Given the description of an element on the screen output the (x, y) to click on. 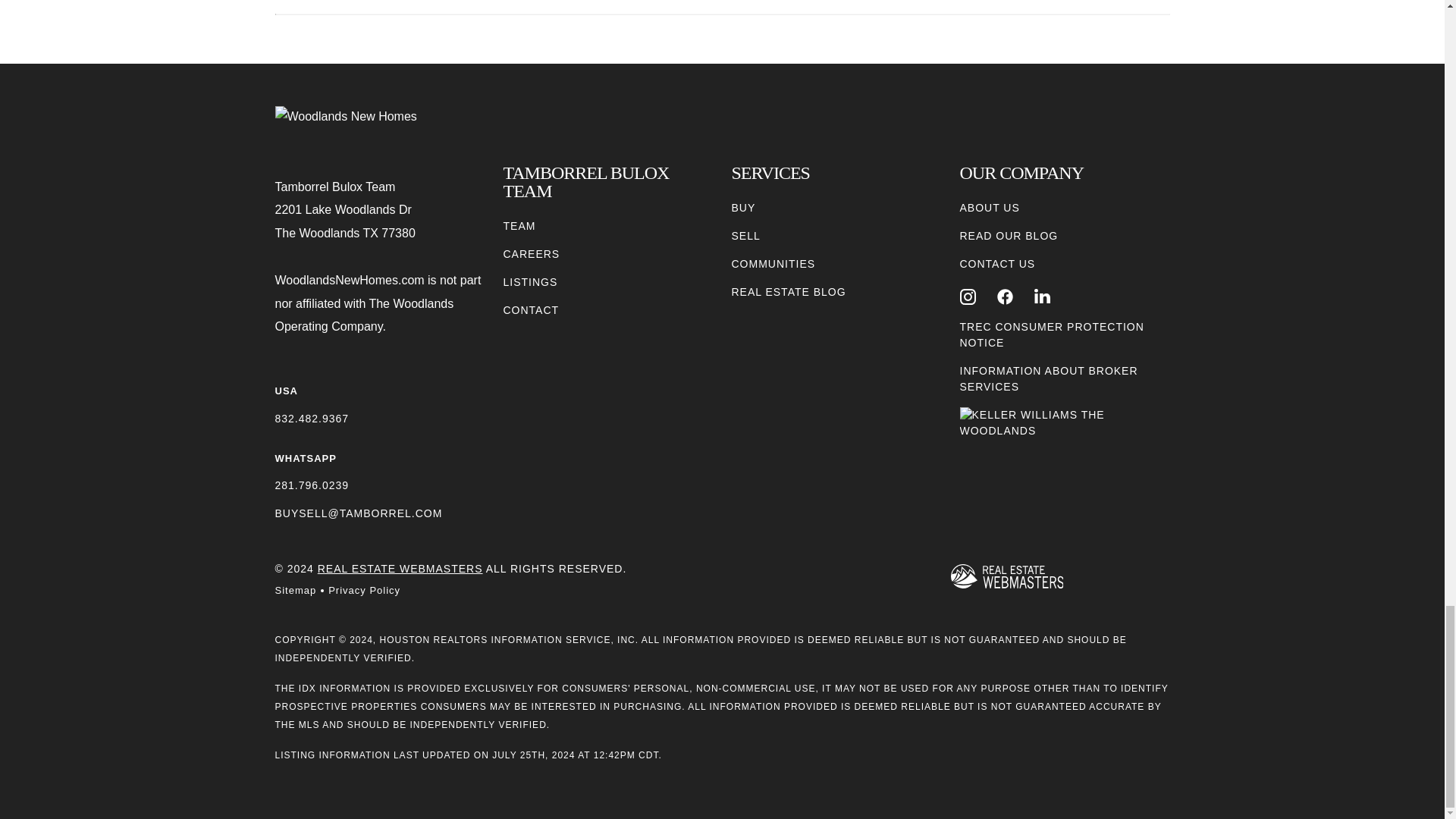
FACEBOOK (1005, 296)
LINKEDIN (1041, 296)
